Given the description of an element on the screen output the (x, y) to click on. 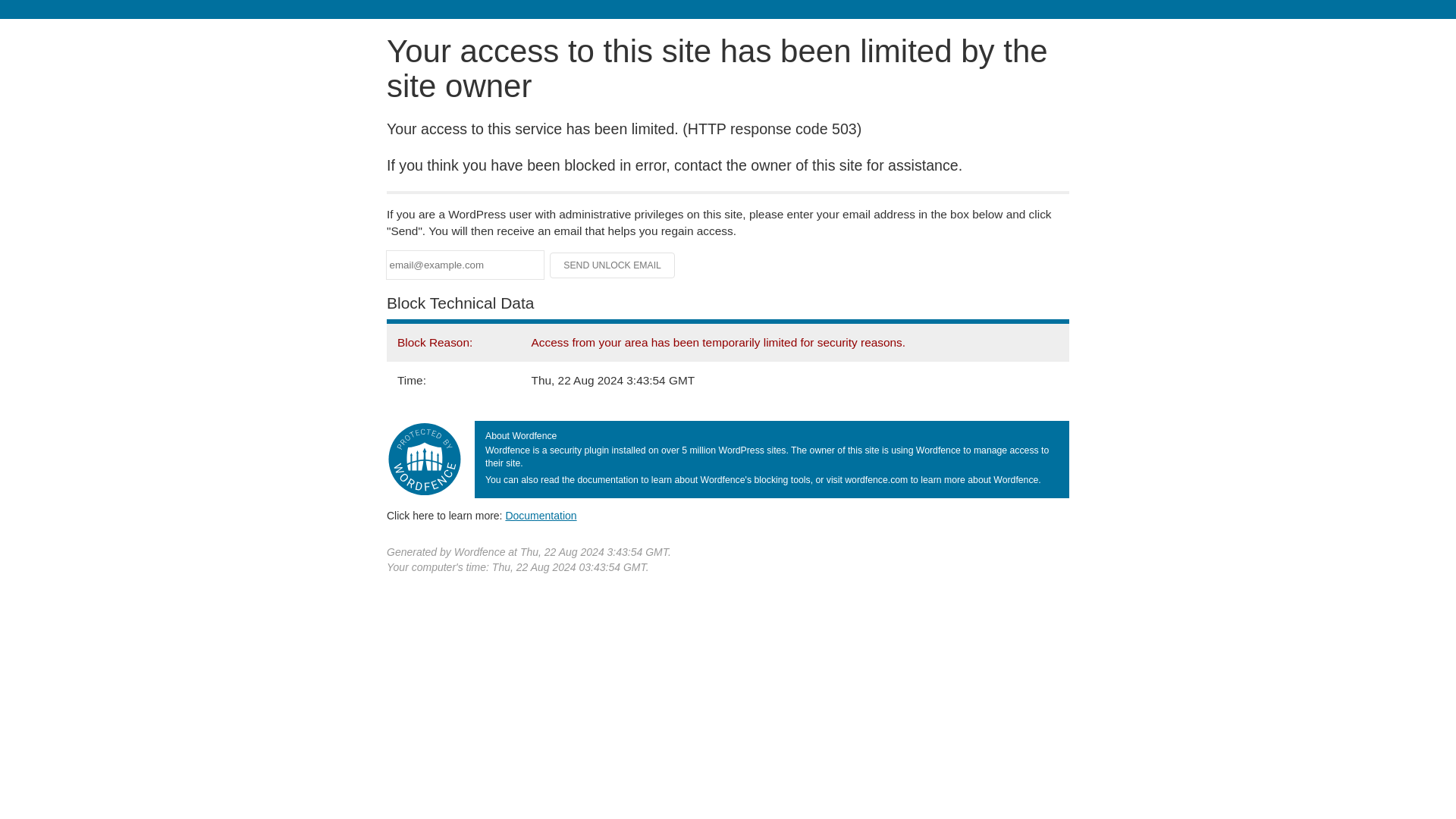
Send Unlock Email (612, 265)
Documentation (540, 515)
Send Unlock Email (612, 265)
